Given the description of an element on the screen output the (x, y) to click on. 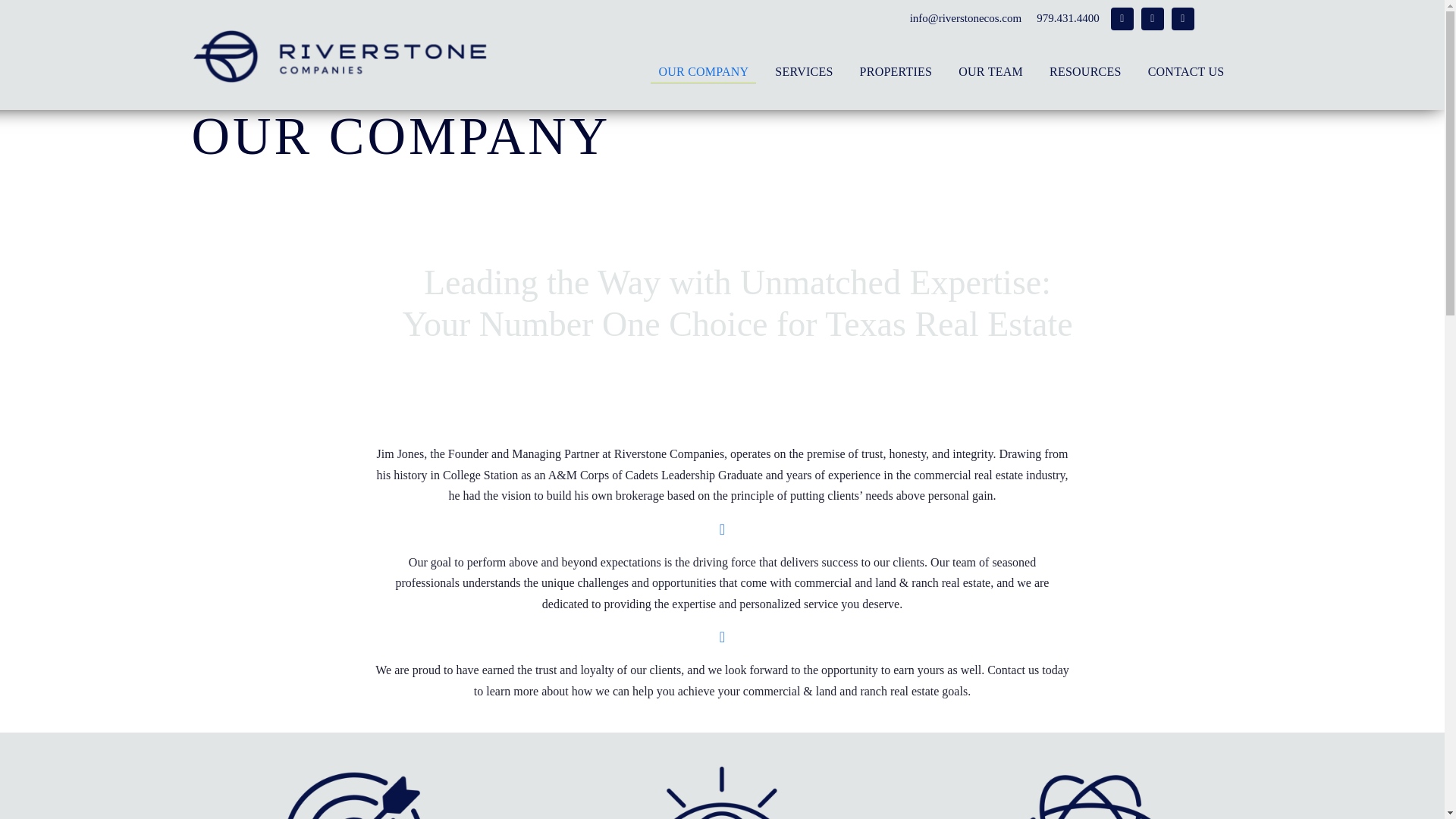
Facebook (1152, 18)
PROPERTIES (895, 73)
SERVICES (803, 73)
Instagram (1122, 18)
RESOURCES (1085, 73)
OUR TEAM (990, 73)
OUR COMPANY (702, 73)
1 (353, 783)
979.431.4400 (1060, 18)
X (1182, 18)
CONTACT US (1185, 73)
2 (721, 783)
